Given the description of an element on the screen output the (x, y) to click on. 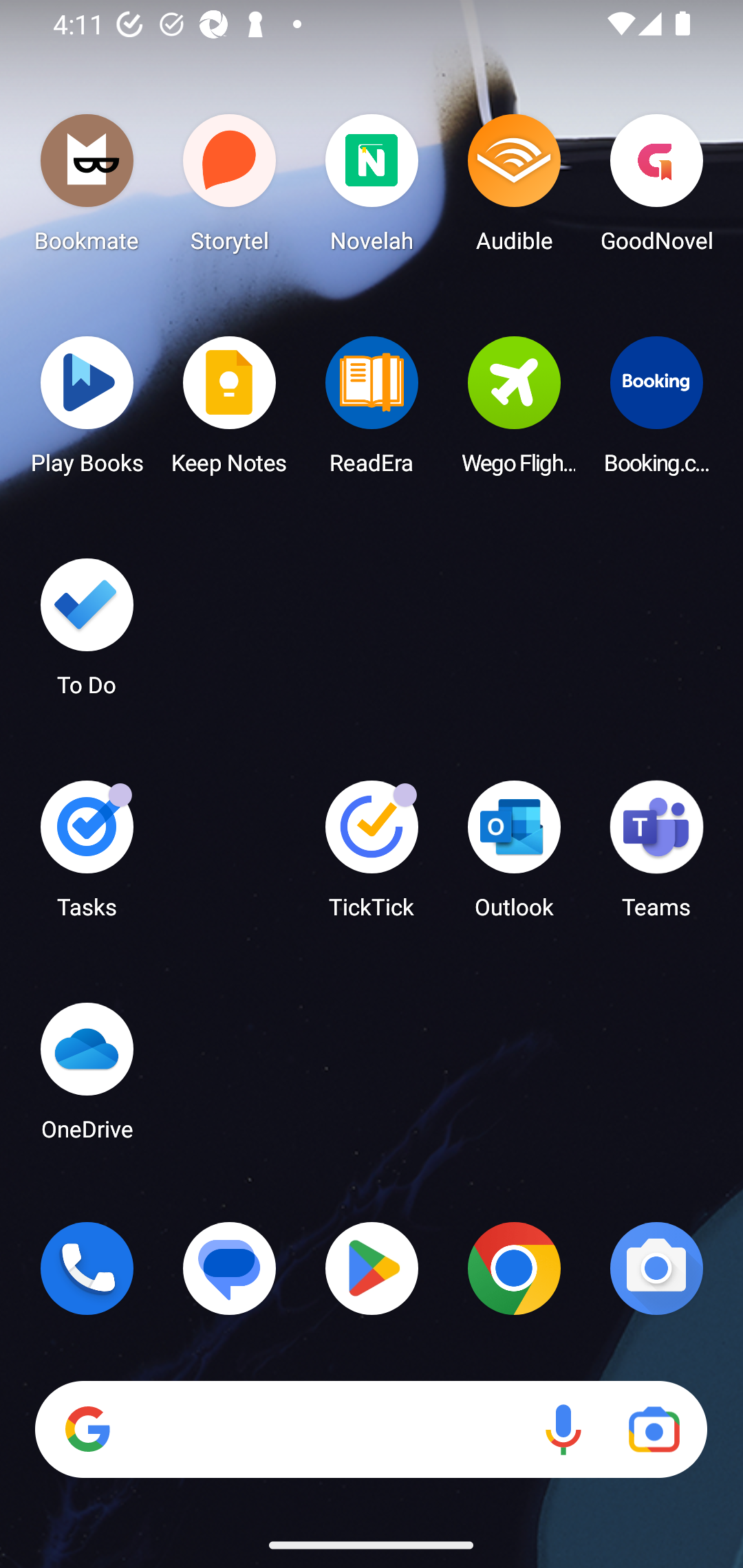
Bookmate (86, 188)
Storytel (229, 188)
Novelah (371, 188)
Audible (513, 188)
GoodNovel (656, 188)
Play Books (86, 410)
Keep Notes (229, 410)
ReadEra (371, 410)
Wego Flights & Hotels (513, 410)
Booking.com (656, 410)
To Do (86, 633)
Tasks Tasks has 1 notification (86, 854)
TickTick TickTick has 3 notifications (371, 854)
Outlook (513, 854)
Teams (656, 854)
OneDrive (86, 1076)
Phone (86, 1268)
Messages (229, 1268)
Play Store (371, 1268)
Chrome (513, 1268)
Camera (656, 1268)
Voice search (562, 1429)
Google Lens (653, 1429)
